Given the description of an element on the screen output the (x, y) to click on. 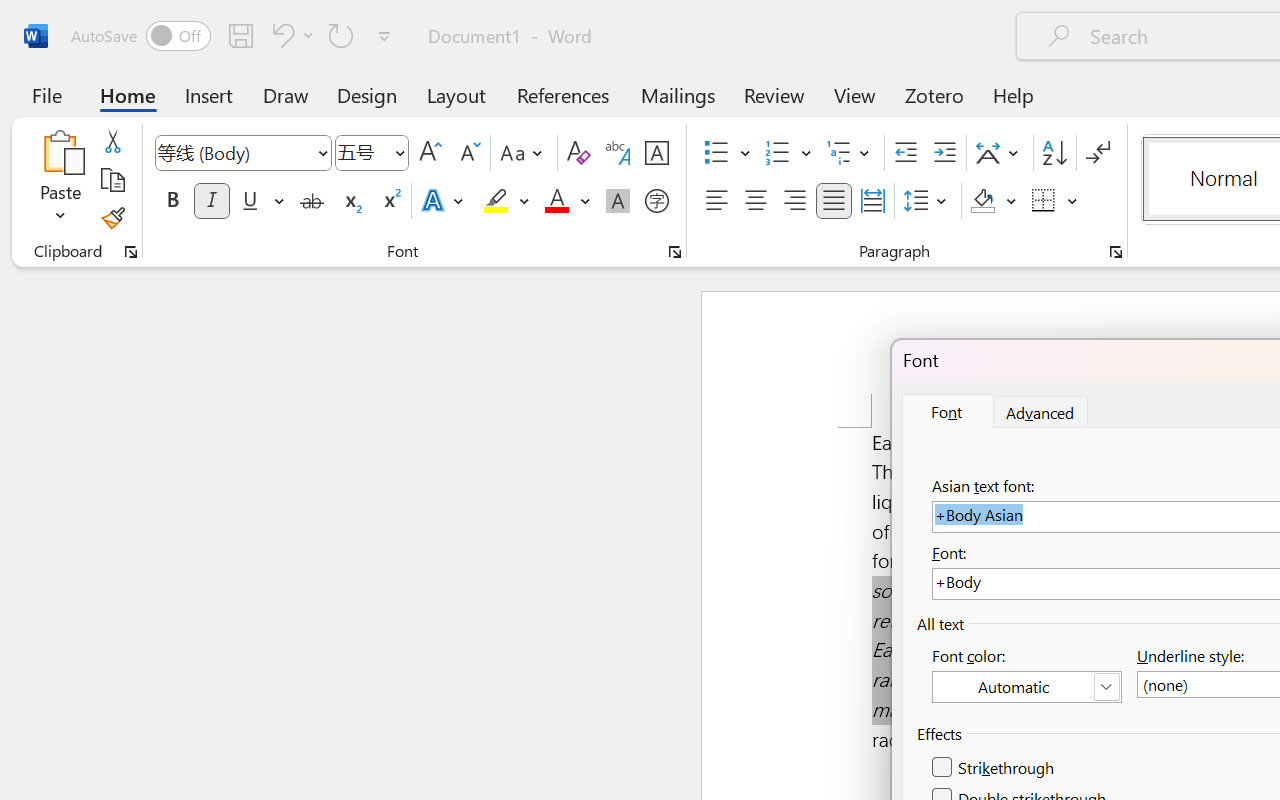
Shading (993, 201)
Open (399, 152)
Superscript (390, 201)
Decrease Indent (906, 153)
Text Effects and Typography (444, 201)
Help (1013, 94)
Italic (212, 201)
Office Clipboard... (131, 252)
Copy (112, 179)
